Given the description of an element on the screen output the (x, y) to click on. 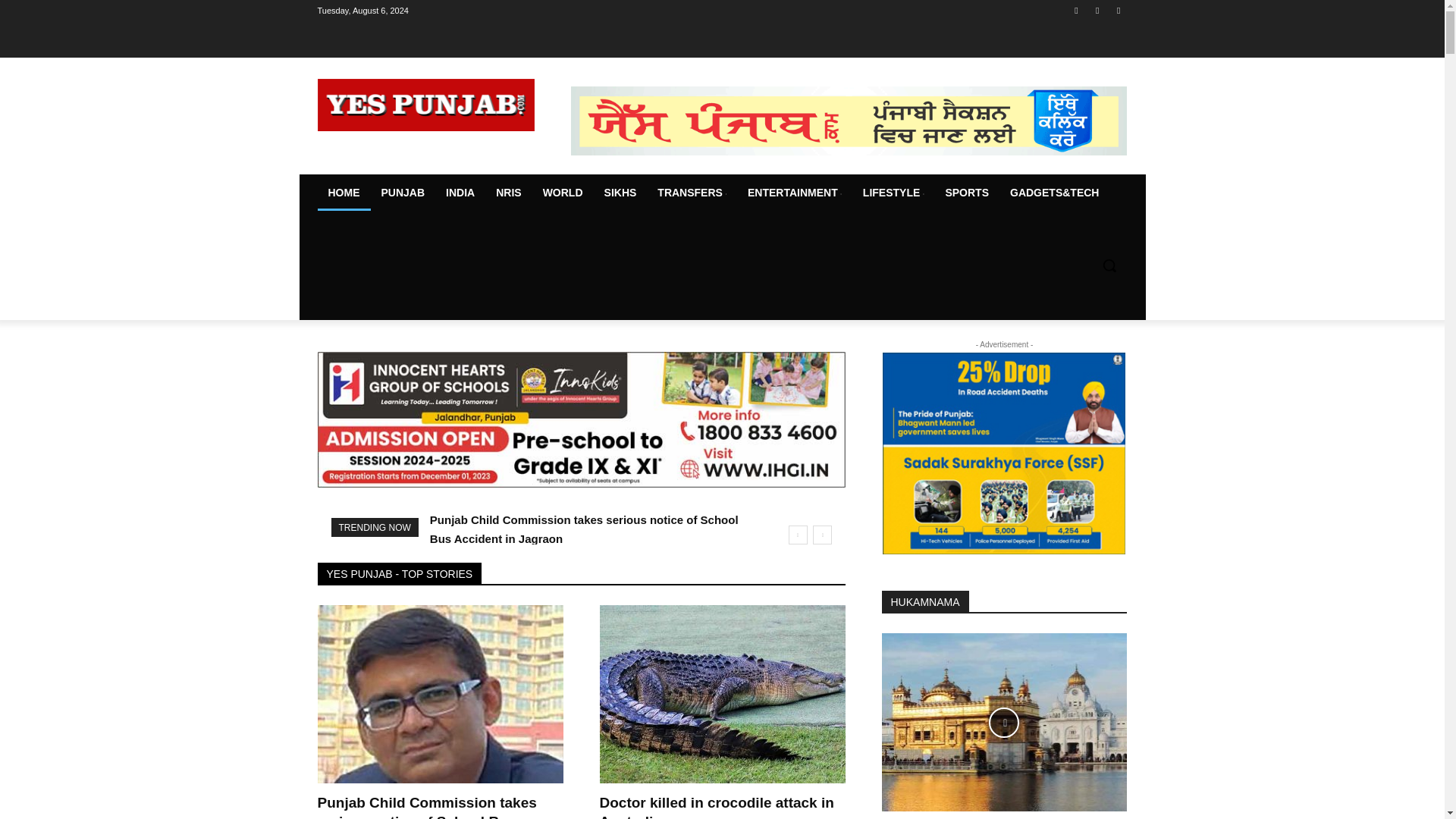
HOME (343, 192)
SIKHS (620, 192)
TRANSFERS (691, 192)
Twitter (1117, 9)
ENTERTAINMENT (793, 192)
Instagram (1097, 9)
PUNJAB (402, 192)
Facebook (1075, 9)
INDIA (459, 192)
Doctor killed in crocodile attack in Australia (721, 693)
WORLD (563, 192)
NRIS (507, 192)
